Given the description of an element on the screen output the (x, y) to click on. 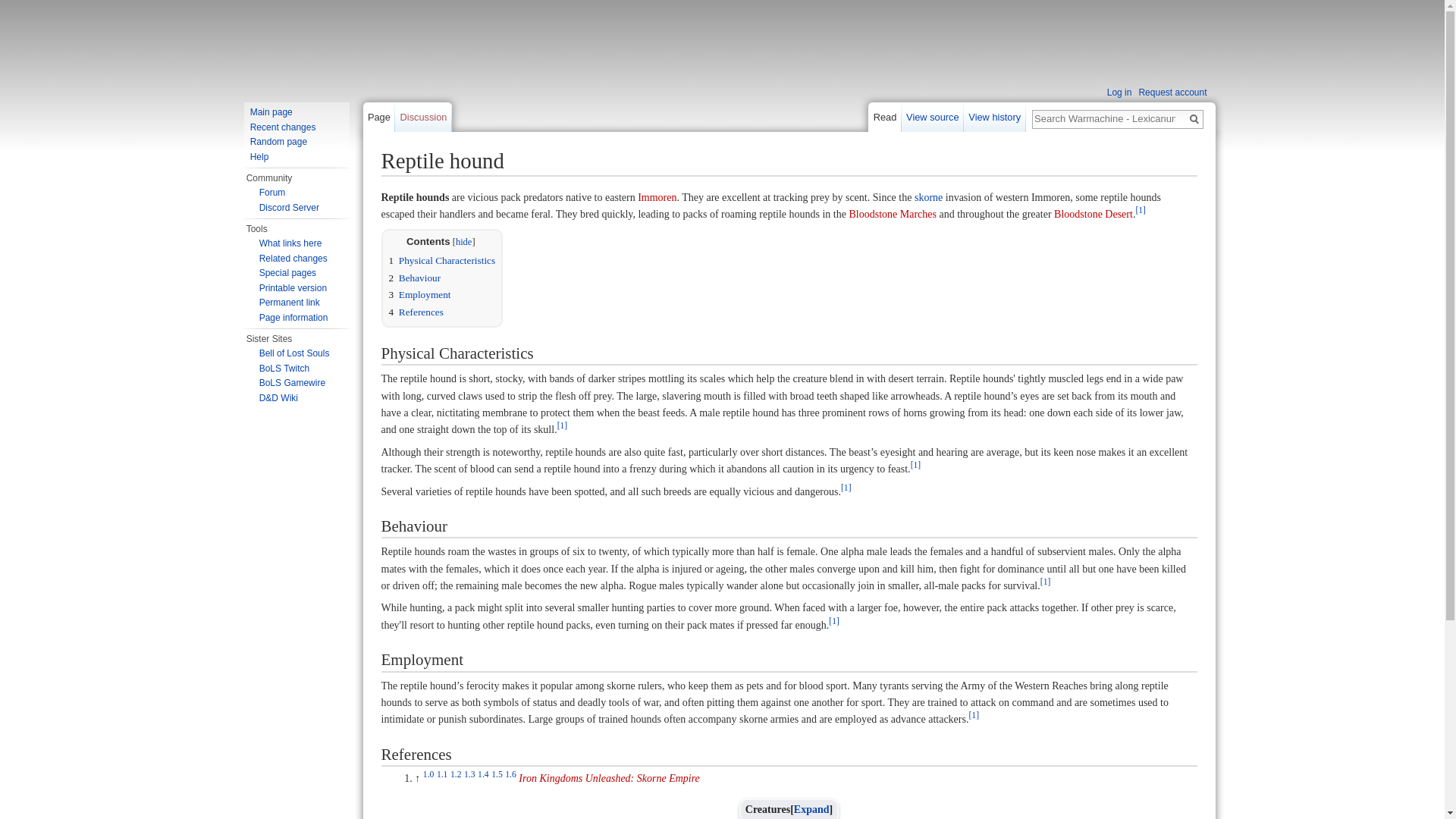
3 Employment (418, 294)
skorne (928, 197)
1.6 (510, 775)
1.2 (455, 775)
Immoren (657, 197)
Bloodstone Marches (892, 214)
hide (463, 241)
1.0 (428, 775)
4 References (415, 311)
1.1 (442, 775)
